Given the description of an element on the screen output the (x, y) to click on. 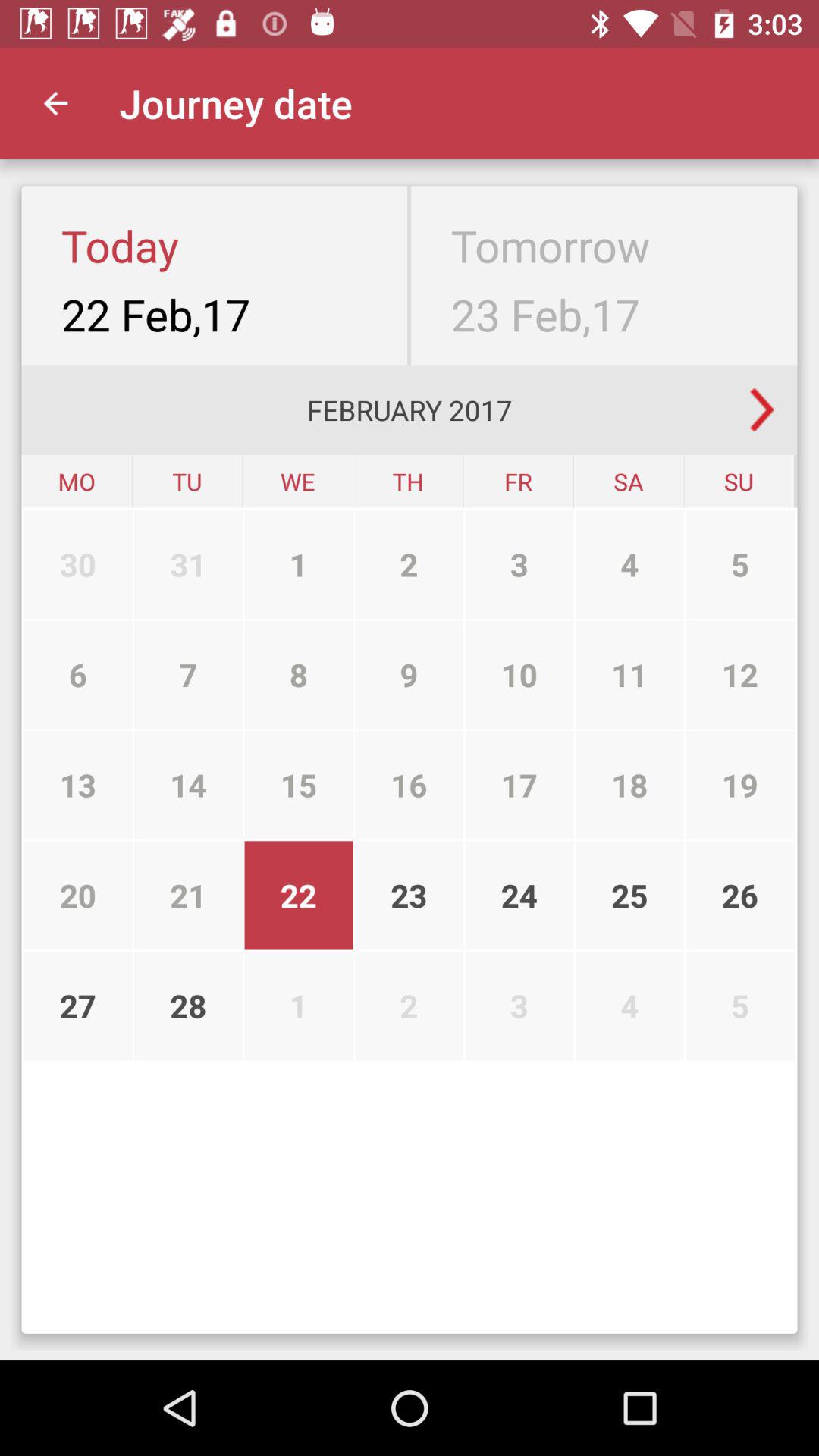
turn off icon to the right of 2 item (519, 674)
